Given the description of an element on the screen output the (x, y) to click on. 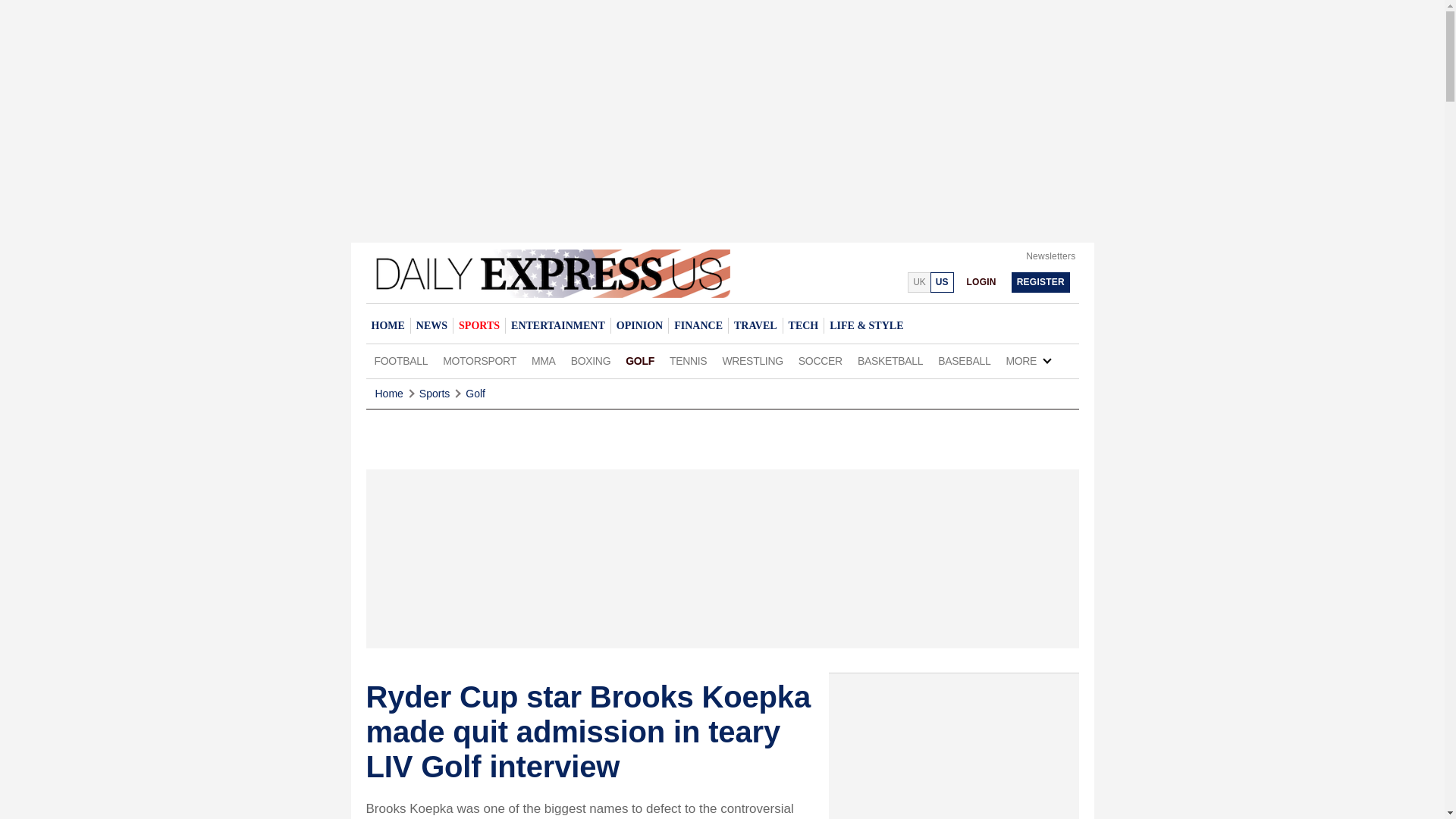
Sports (434, 393)
MMA (543, 361)
FOOTBALL (400, 361)
TRAVEL (755, 325)
Find us on Facebook (856, 281)
BOXING (590, 361)
MOTORSPORT (479, 361)
TENNIS (688, 361)
UK (918, 281)
ENTERTAINMENT (557, 325)
